Given the description of an element on the screen output the (x, y) to click on. 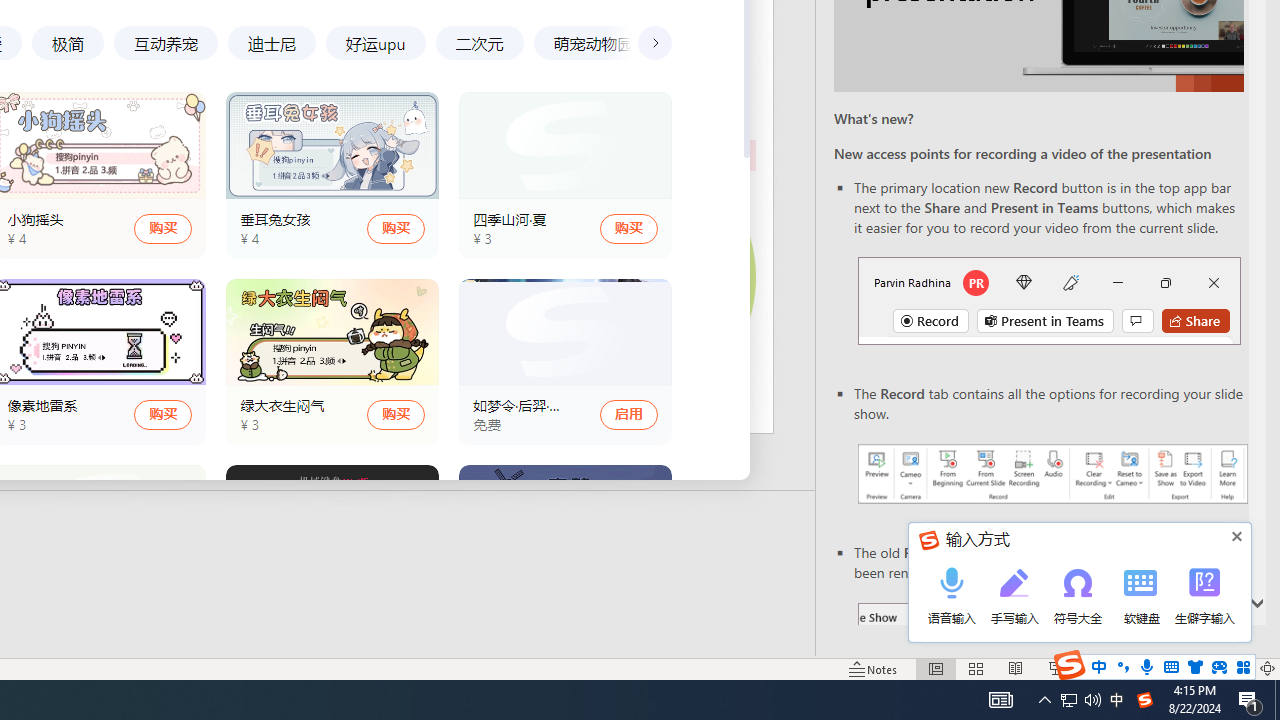
Action Center, 1 new notification (1250, 699)
Record button in top bar (1049, 300)
Zoom 131% (1234, 668)
Record your presentations screenshot one (1052, 473)
